Given the description of an element on the screen output the (x, y) to click on. 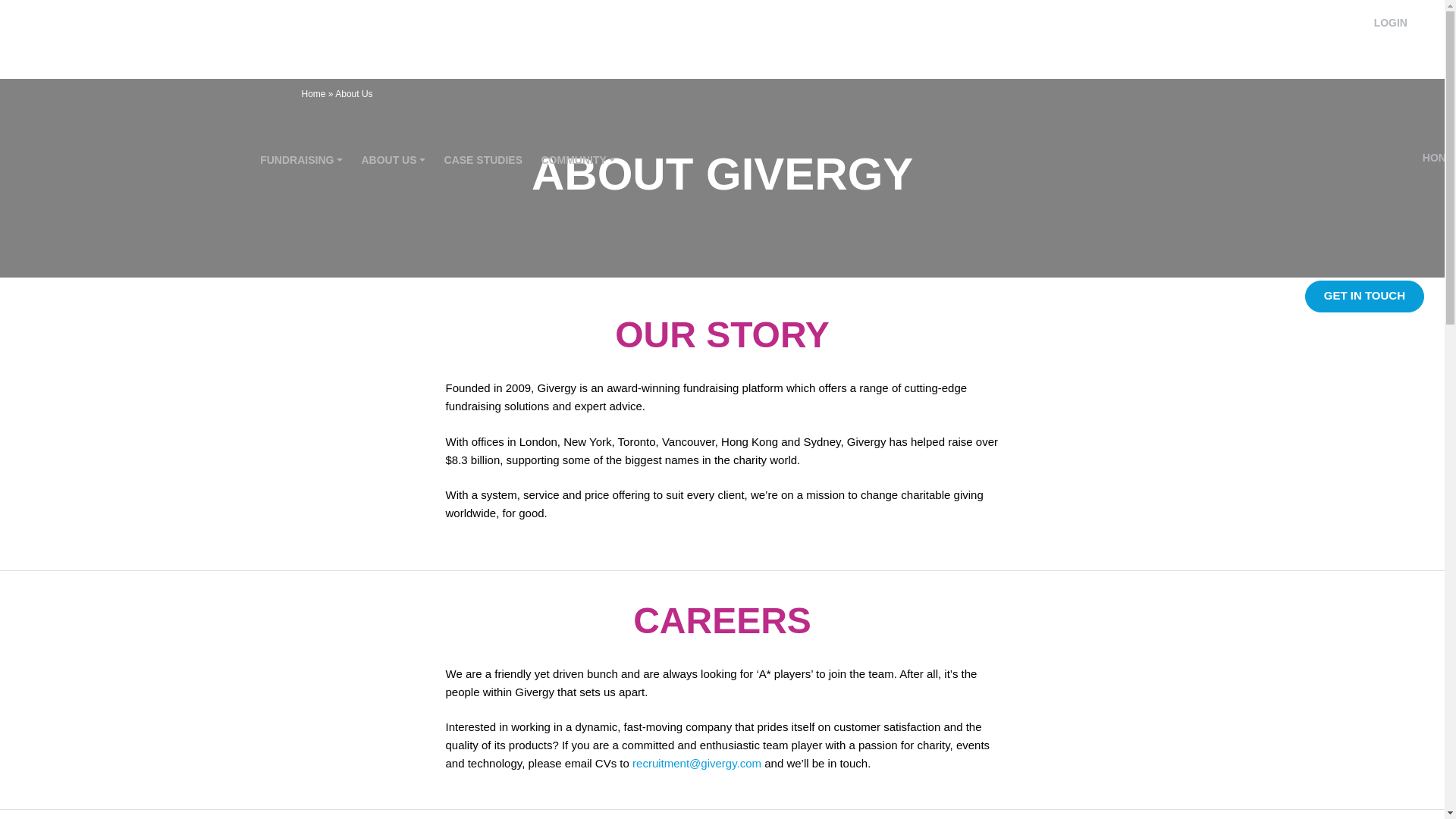
FUNDRAISING (300, 159)
ABOUT US (392, 159)
LOGIN (1390, 22)
GET IN TOUCH (1363, 296)
COMMUNITY (577, 159)
CASE STUDIES (482, 159)
